Given the description of an element on the screen output the (x, y) to click on. 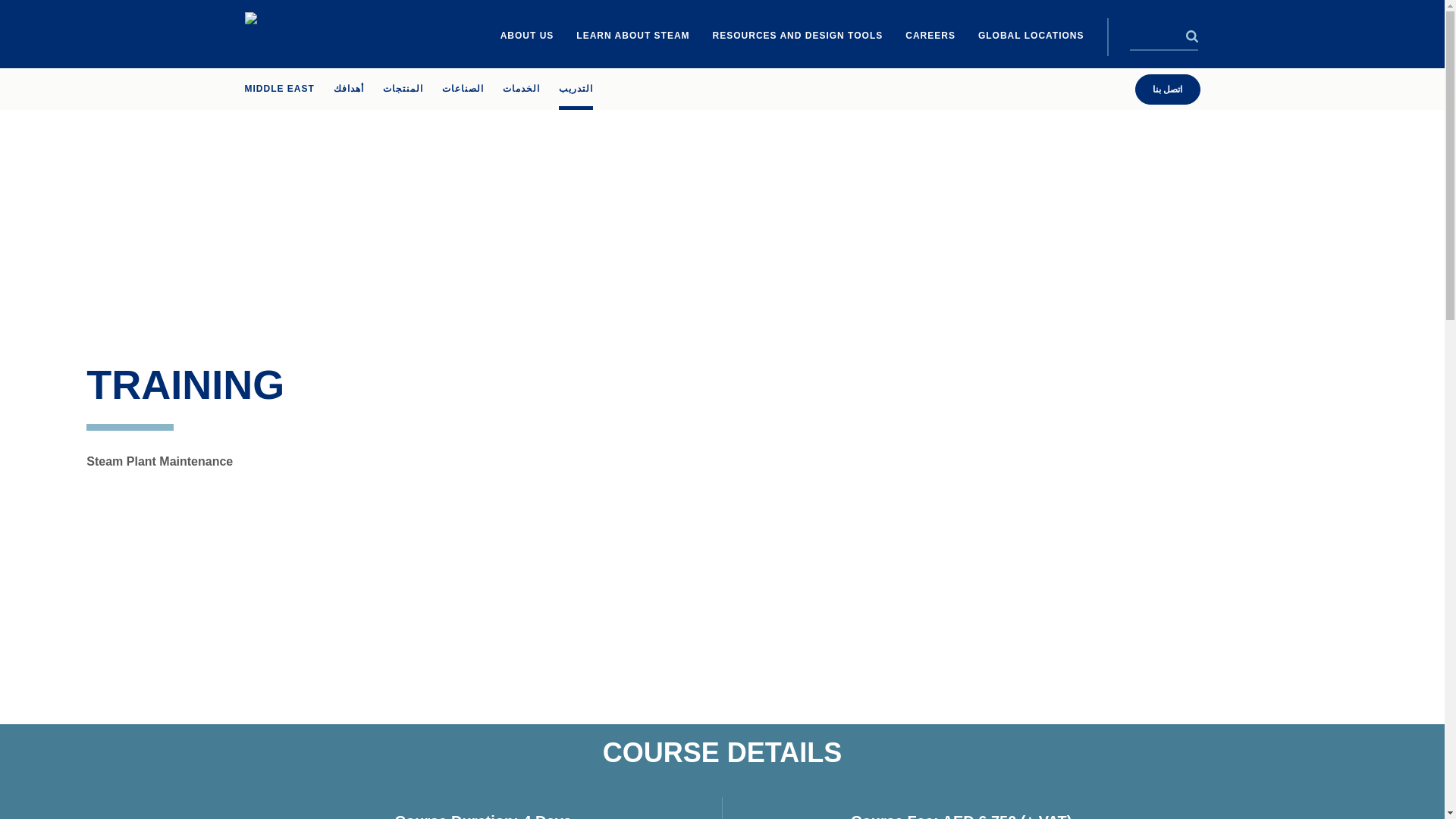
ABOUT US (527, 36)
LEARN ABOUT STEAM (632, 36)
GLOBAL LOCATIONS (1031, 36)
CAREERS (930, 36)
MIDDLE EAST (279, 88)
RESOURCES AND DESIGN TOOLS (798, 36)
Search (1192, 36)
